Given the description of an element on the screen output the (x, y) to click on. 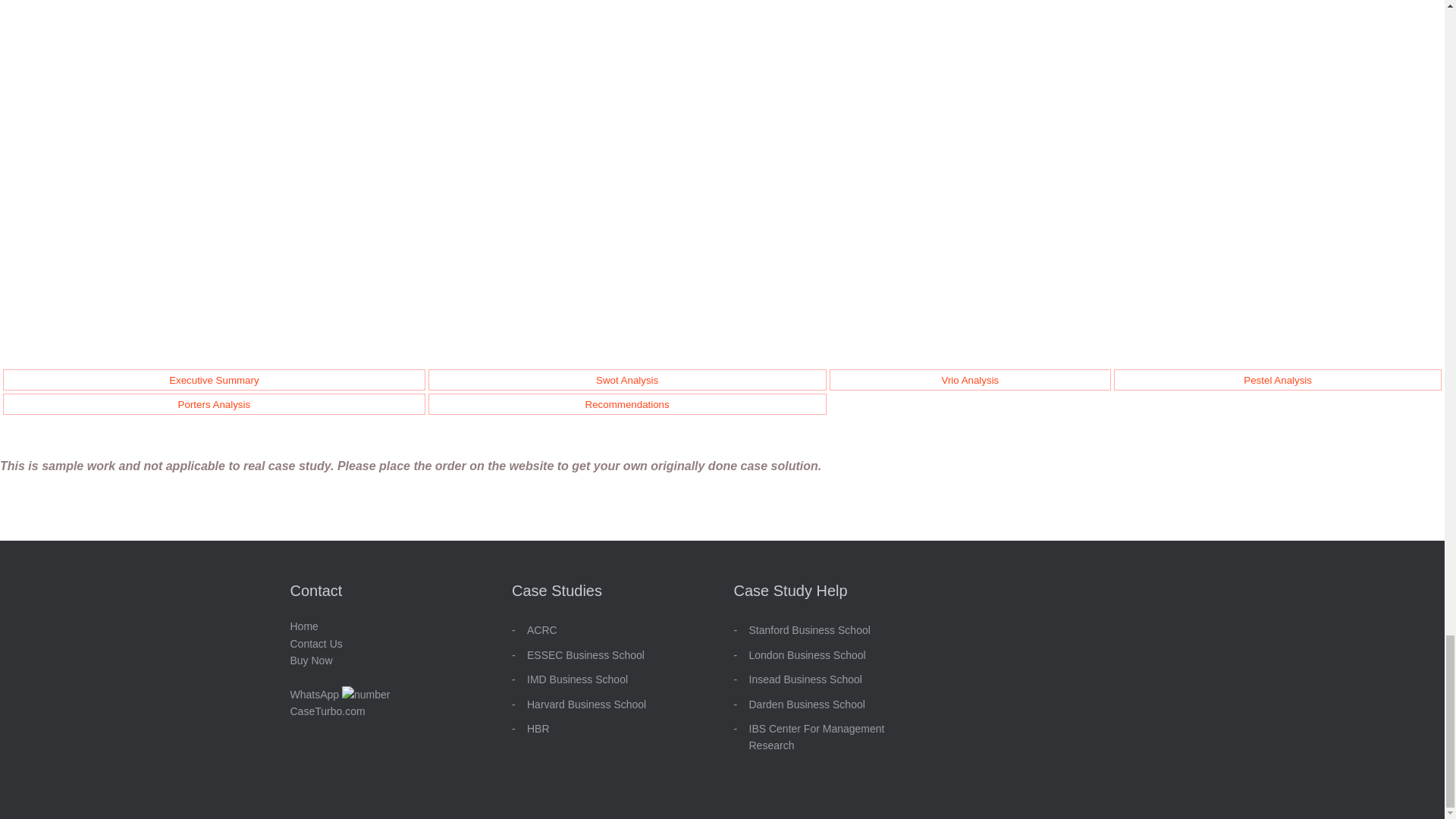
Executive Summary (213, 379)
Pestel Analysis (1277, 379)
Contact Us (315, 644)
ESSEC Business School (586, 654)
HBR (538, 728)
WhatsApp (339, 694)
Darden Business School (806, 704)
Swot Analysis (626, 379)
CRC (545, 630)
Recommendations (627, 404)
